Given the description of an element on the screen output the (x, y) to click on. 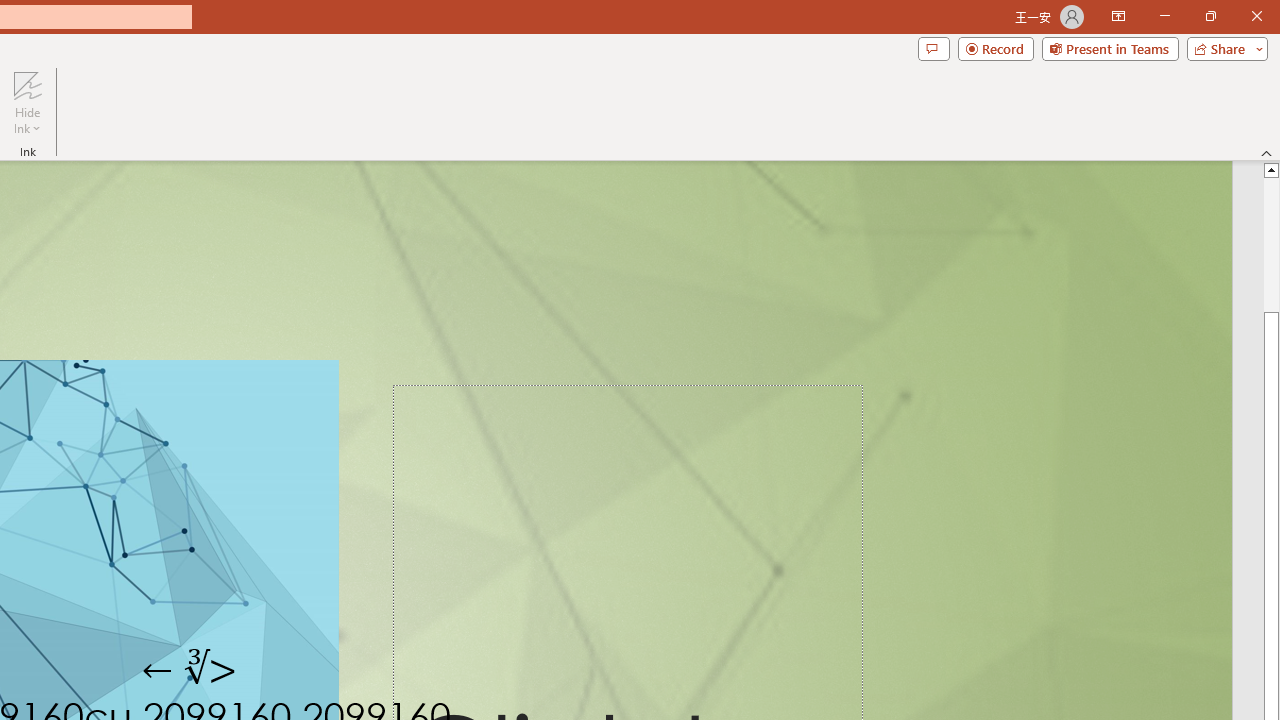
TextBox 7 (189, 669)
